Given the description of an element on the screen output the (x, y) to click on. 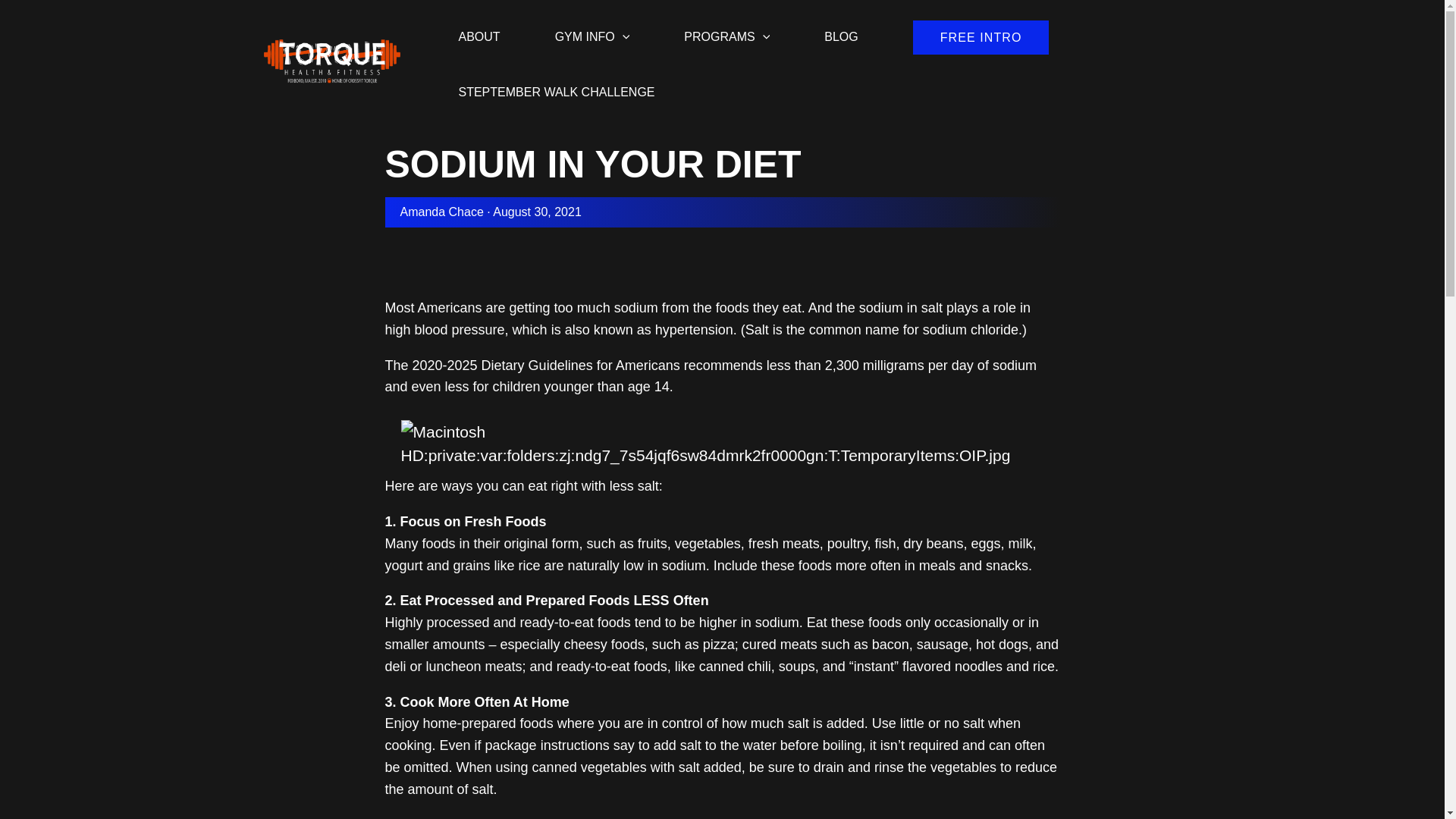
GYM INFO (592, 27)
STEPTEMBER WALK CHALLENGE (555, 82)
Sodium in Your Diet 1 (729, 443)
PROGRAMS (726, 27)
FREE INTRO (980, 37)
ABOUT (478, 27)
BLOG (840, 27)
